Given the description of an element on the screen output the (x, y) to click on. 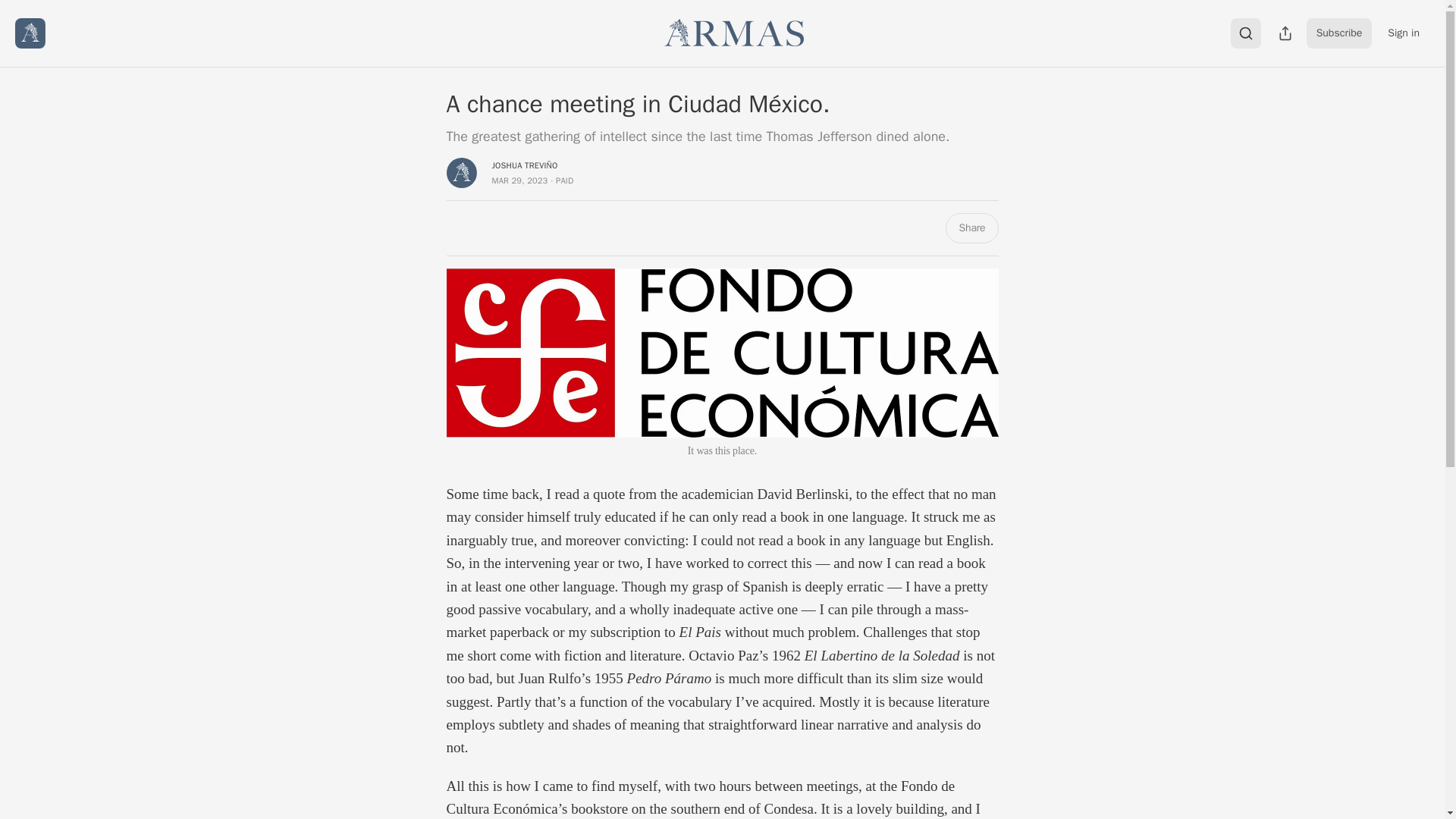
Sign in (1403, 33)
Share (970, 227)
Subscribe (1339, 33)
